Given the description of an element on the screen output the (x, y) to click on. 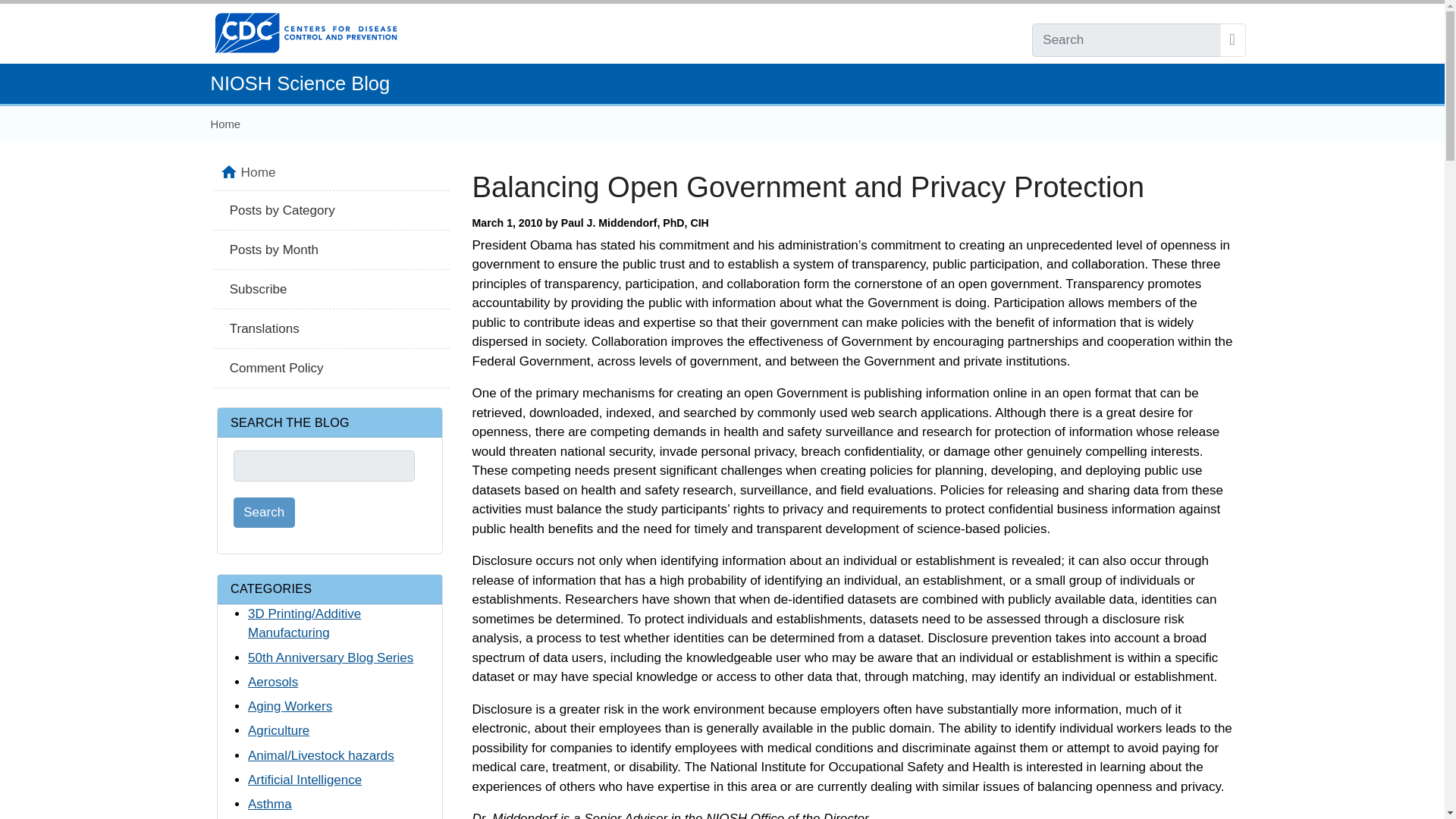
NIOSH Science Blog (300, 83)
Home (226, 124)
NIOSH Science Blog (300, 83)
